Given the description of an element on the screen output the (x, y) to click on. 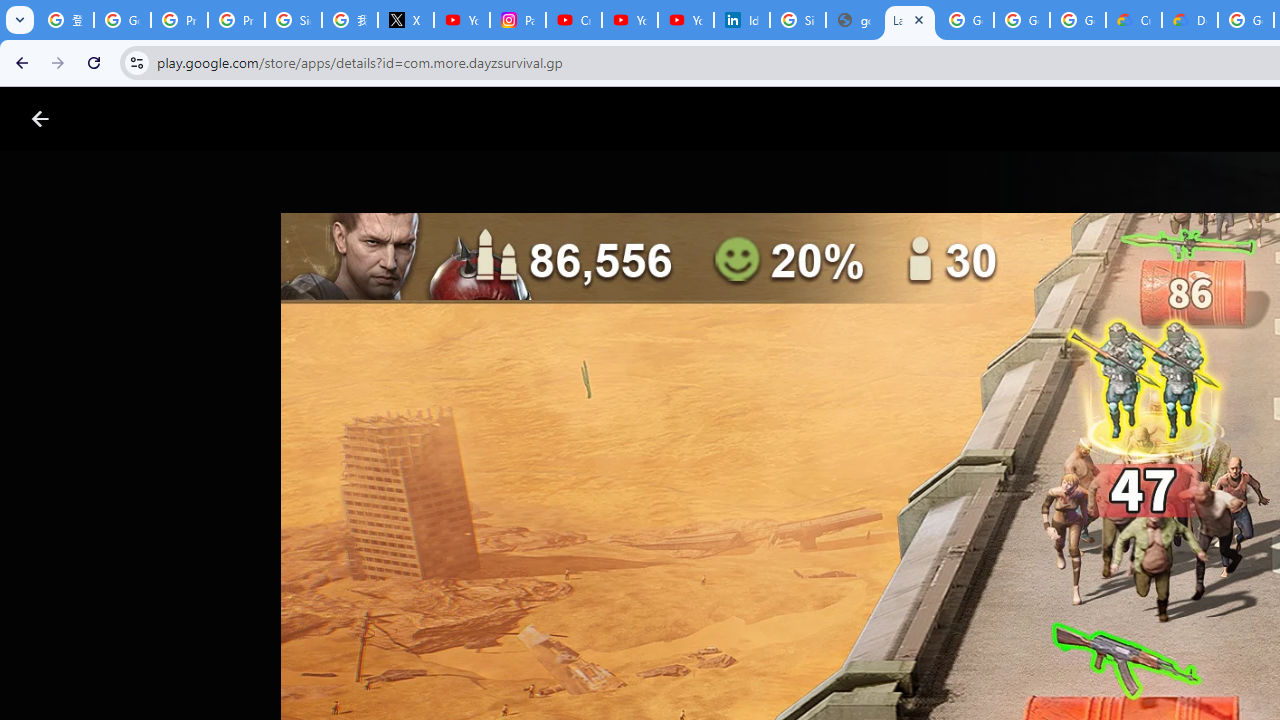
Sign in - Google Accounts (797, 20)
Privacy Help Center - Policies Help (179, 20)
Google Workspace - Specific Terms (1021, 20)
Games (248, 119)
Kids (385, 119)
More info about this content rating (1013, 678)
Last Shelter: Survival - Apps on Google Play (909, 20)
